Given the description of an element on the screen output the (x, y) to click on. 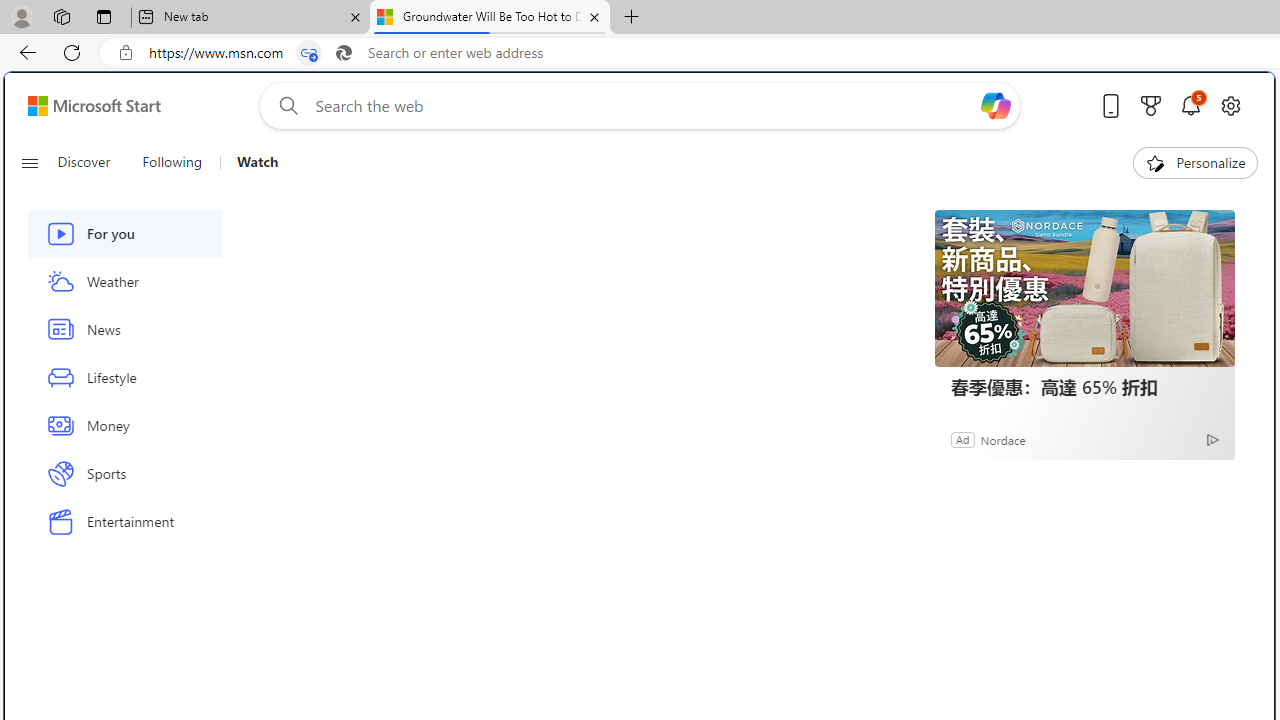
To get missing image descriptions, open the context menu. (1155, 162)
Web search (283, 105)
Discover (84, 162)
Open Copilot (995, 105)
Open settings (1230, 105)
